Given the description of an element on the screen output the (x, y) to click on. 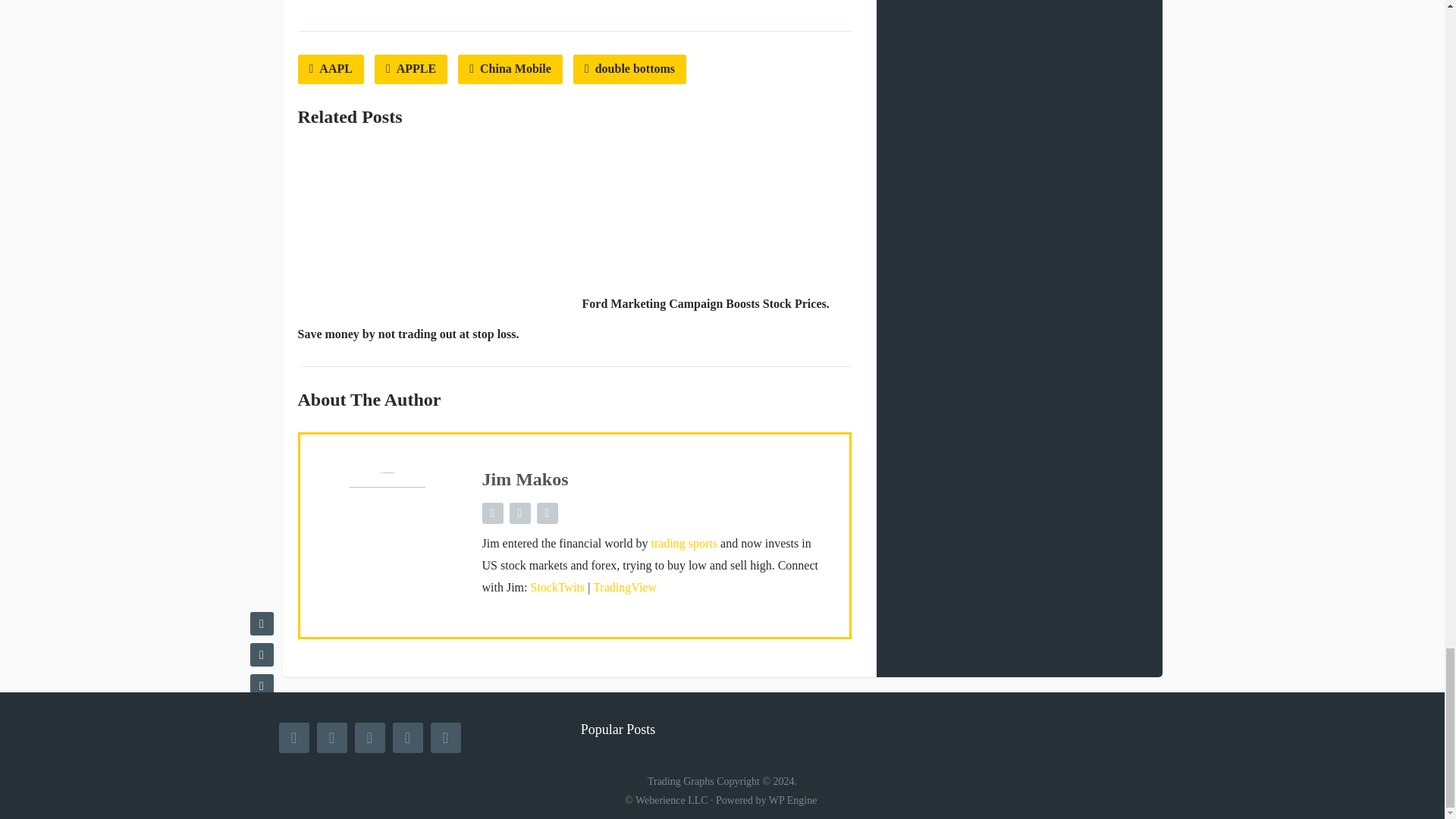
Save money by not trading out at stop loss. (407, 333)
AAPL (329, 69)
APPLE (410, 69)
China Mobile (510, 69)
Ford Marketing Campaign Boosts Stock Prices. (705, 303)
double bottoms (629, 69)
